Given the description of an element on the screen output the (x, y) to click on. 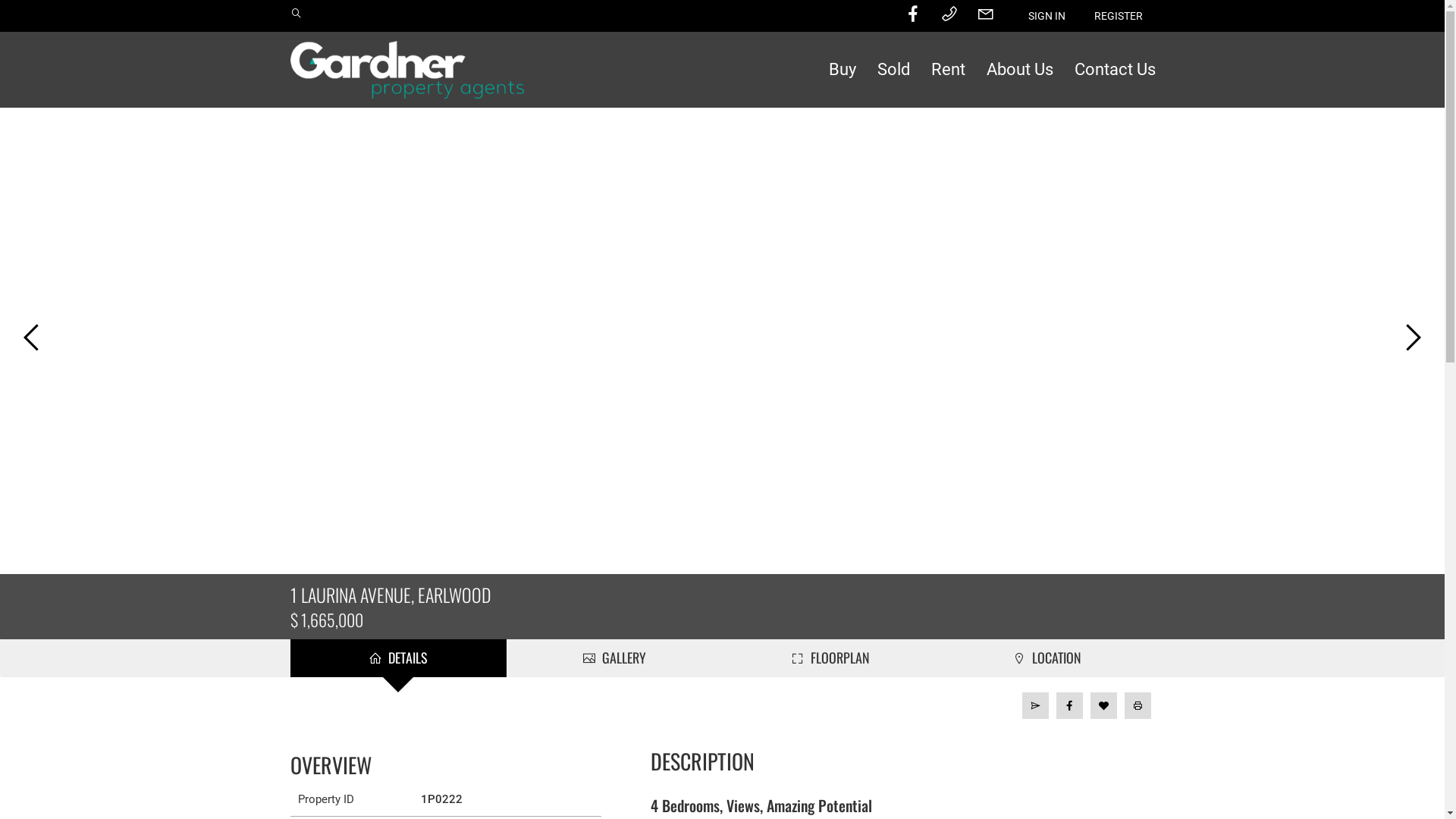
Email to Friend Element type: hover (1035, 705)
Sold Element type: text (892, 69)
FLOORPLAN Element type: text (829, 658)
About Us Element type: text (1019, 69)
GALLERY Element type: text (614, 658)
LOCATION Element type: text (1046, 658)
REGISTER Element type: text (1117, 15)
Buy Element type: text (841, 69)
Rent Element type: text (947, 69)
Contact Us Element type: text (1114, 69)
SIGN IN Element type: text (1046, 15)
DETAILS Element type: text (397, 658)
